Given the description of an element on the screen output the (x, y) to click on. 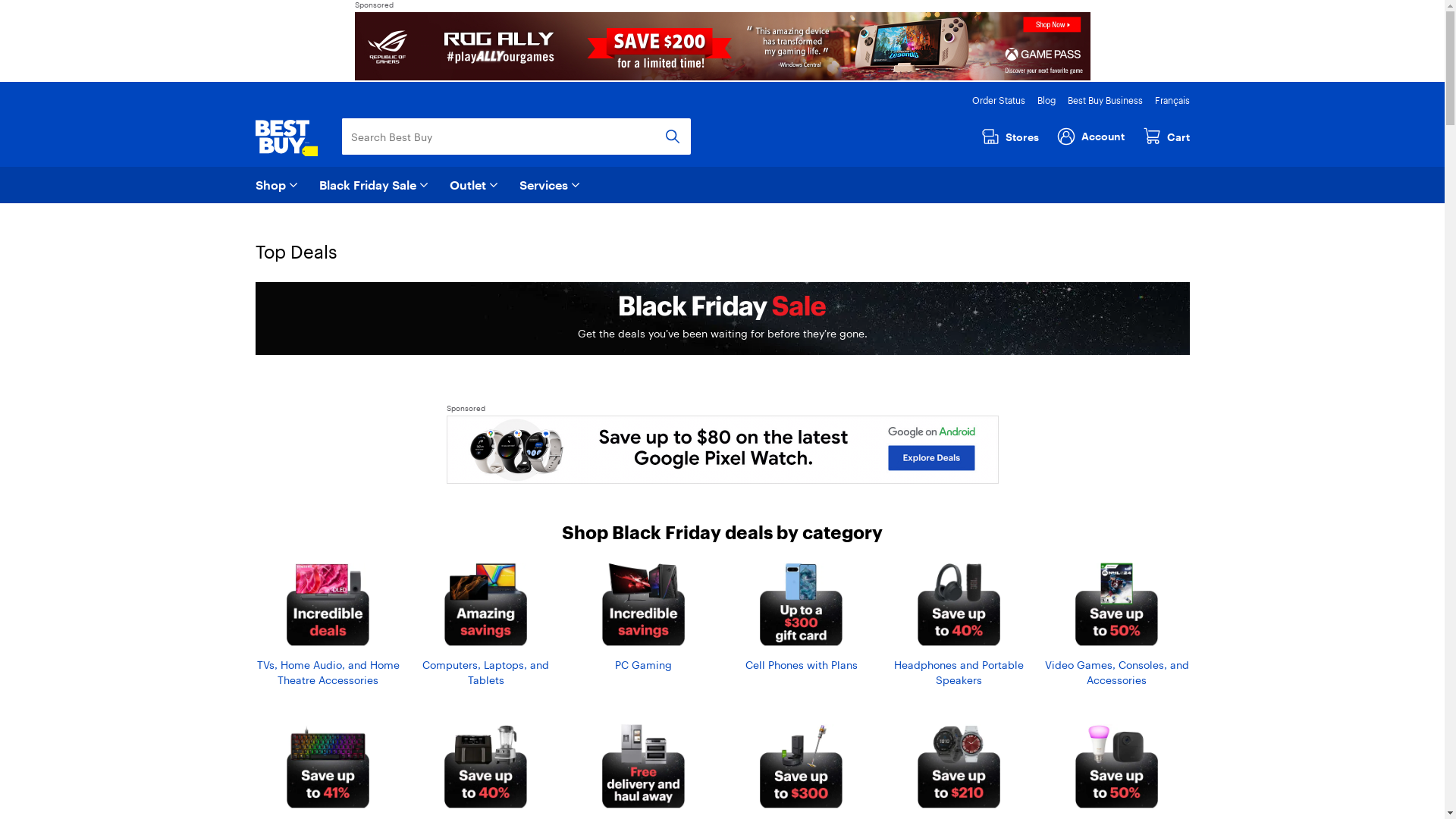
Computers, Laptops, and Tablets Element type: text (485, 624)
Headphones and Portable Speakers Element type: text (958, 624)
Account Element type: text (1095, 134)
Stores Element type: text (1016, 136)
Cell Phones with Plans Element type: text (800, 617)
Blog Element type: text (1046, 100)
3rd party ad content Element type: hover (722, 46)
Cart Element type: text (1165, 136)
Shop Element type: text (277, 184)
3rd party ad content Element type: hover (721, 449)
PC Gaming Element type: text (642, 617)
Order Status Element type: text (998, 100)
Black Friday Sale Element type: text (374, 184)
Outlet Element type: text (474, 184)
Best Buy Business Element type: text (1104, 100)
Video Games, Consoles, and Accessories Element type: text (1116, 624)
TVs, Home Audio, and Home Theatre Accessories Element type: text (327, 624)
Services Element type: text (550, 184)
